Given the description of an element on the screen output the (x, y) to click on. 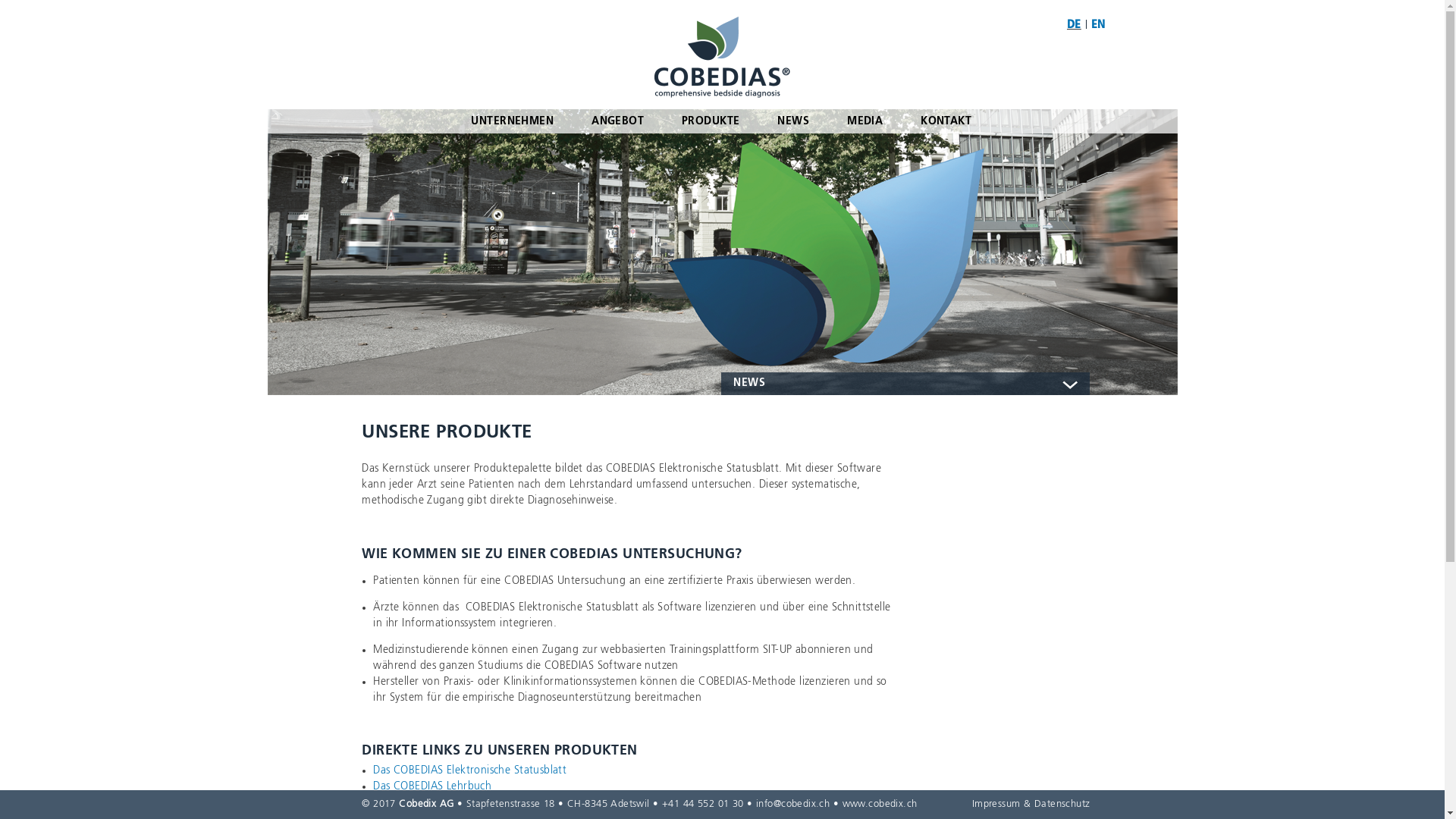
Das COBEDIAS Lehrbuch Element type: text (432, 786)
MEDIA Element type: text (864, 121)
info@cobedix.ch Element type: text (792, 804)
ANGEBOT Element type: text (617, 121)
NEWS Element type: text (793, 121)
KONTAKT Element type: text (945, 121)
UNTERNEHMEN Element type: text (511, 121)
EN Element type: text (1098, 24)
PRODUKTE Element type: text (710, 121)
SIT-UP Element type: text (387, 802)
www.cobedix.ch Element type: text (879, 804)
Impressum & Datenschutz Element type: text (1031, 804)
DE Element type: text (1073, 24)
Das COBEDIAS Elektronische Statusblatt Element type: text (469, 770)
